Given the description of an element on the screen output the (x, y) to click on. 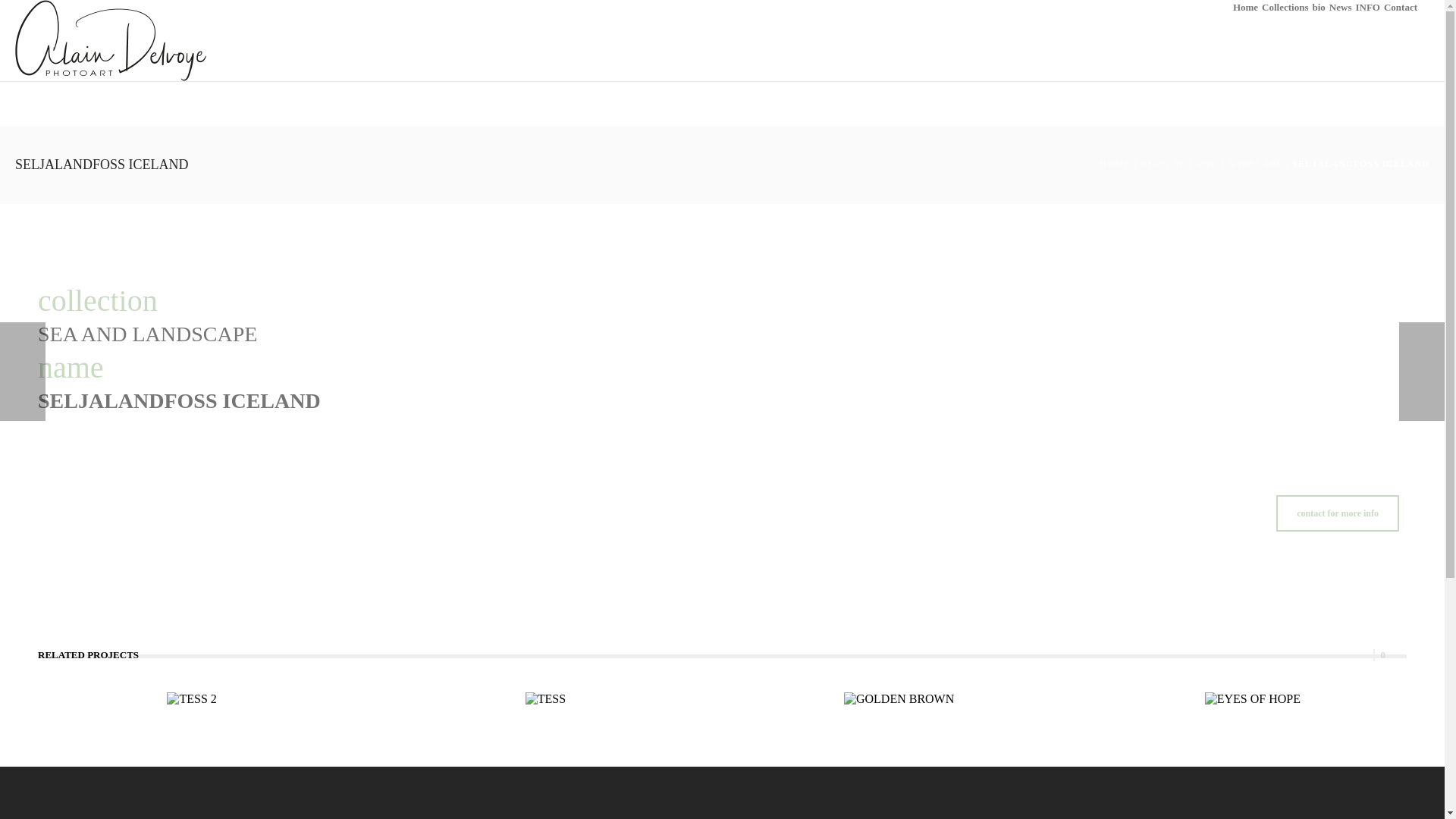
TAKE ON ME BL&W
BLACK & WHITE, NEW Element type: text (1421, 371)
HOME Element type: text (1114, 163)
TESS 2 Element type: hover (191, 699)
NEW Element type: text (1152, 163)
contact for more info Element type: text (1337, 513)
TESS Element type: hover (545, 699)
EYES OF HOPE Element type: hover (1252, 699)
Alain Delvoye Element type: hover (110, 38)
Contact Element type: text (1400, 7)
bio Element type: text (1317, 7)
SEA AND LANDSCAPE Element type: text (1228, 163)
Home Element type: text (1245, 7)
News Element type: text (1340, 7)
INFO Element type: text (1367, 7)
GOLDEN BROWN Element type: hover (898, 699)
Collections Element type: text (1284, 7)
REYKJANSVITI ICELAND
NEW, SEA AND LANDSCAPE Element type: text (22, 371)
